Given the description of an element on the screen output the (x, y) to click on. 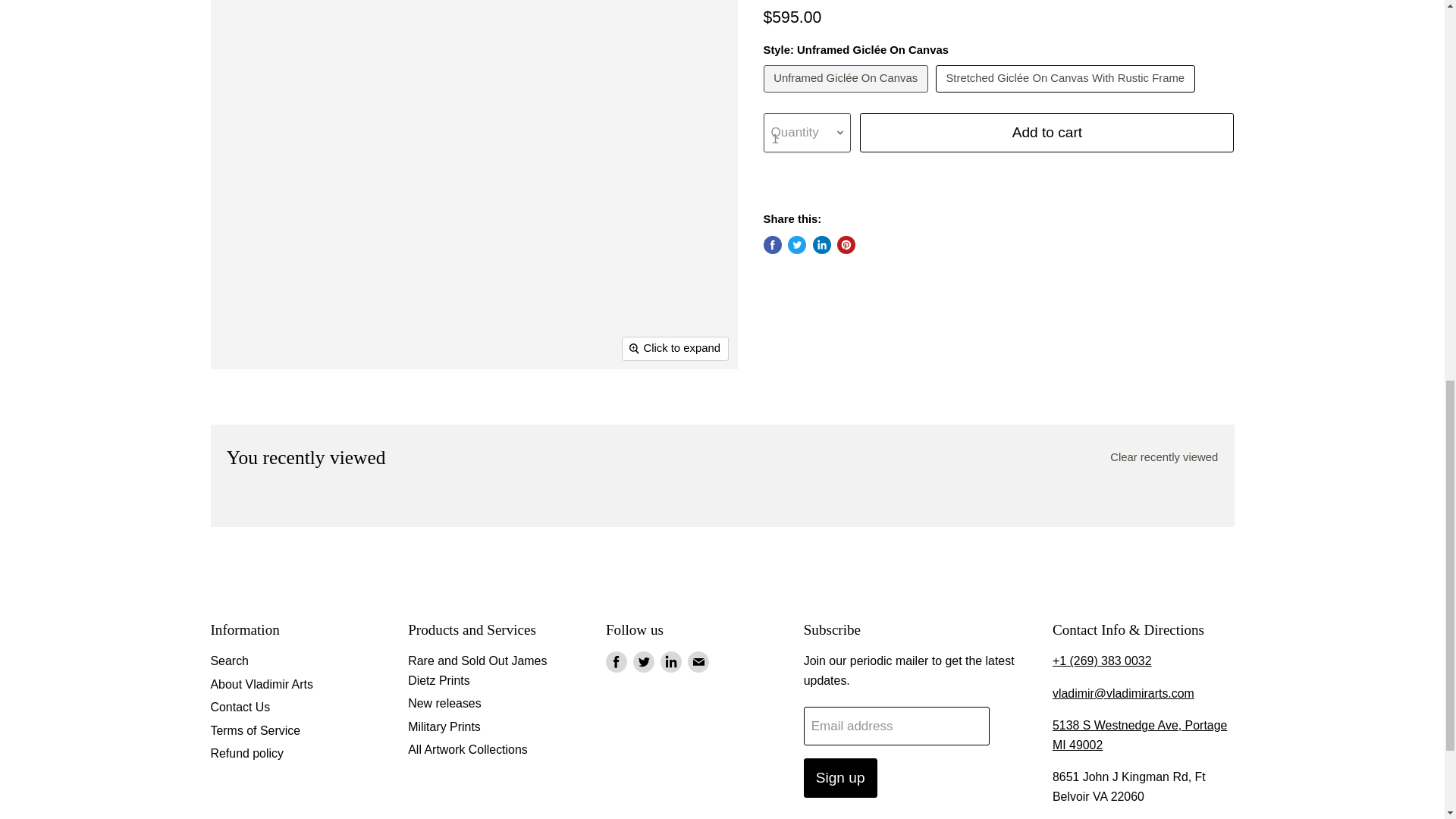
Email (698, 661)
Facebook (616, 661)
Call Vladimir Arts. (1101, 660)
Directions to Vladimir Arts (1139, 735)
Twitter (643, 661)
LinkedIn (671, 661)
Email Vladimir Arts (1122, 693)
